Given the description of an element on the screen output the (x, y) to click on. 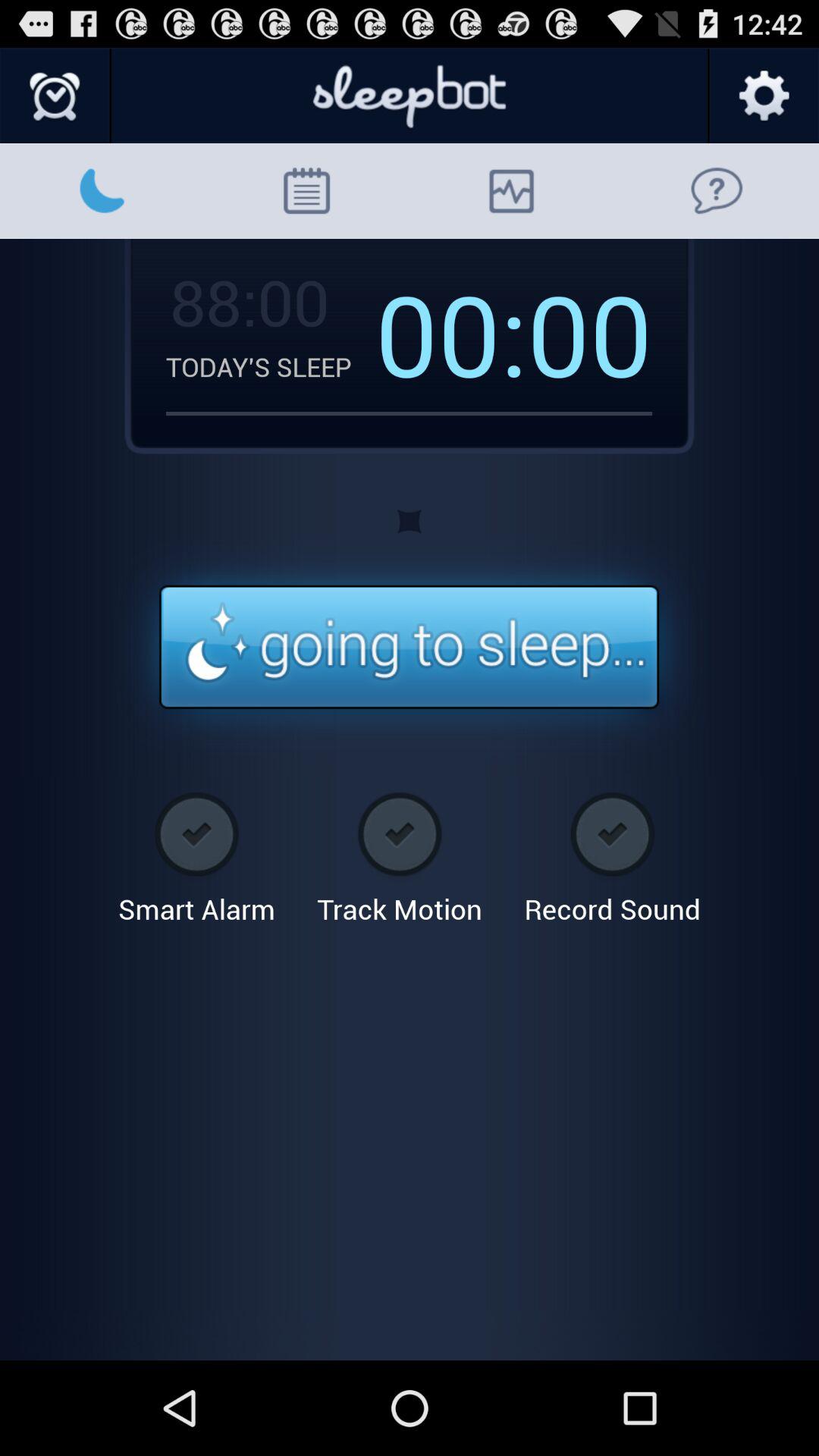
settings (763, 96)
